Given the description of an element on the screen output the (x, y) to click on. 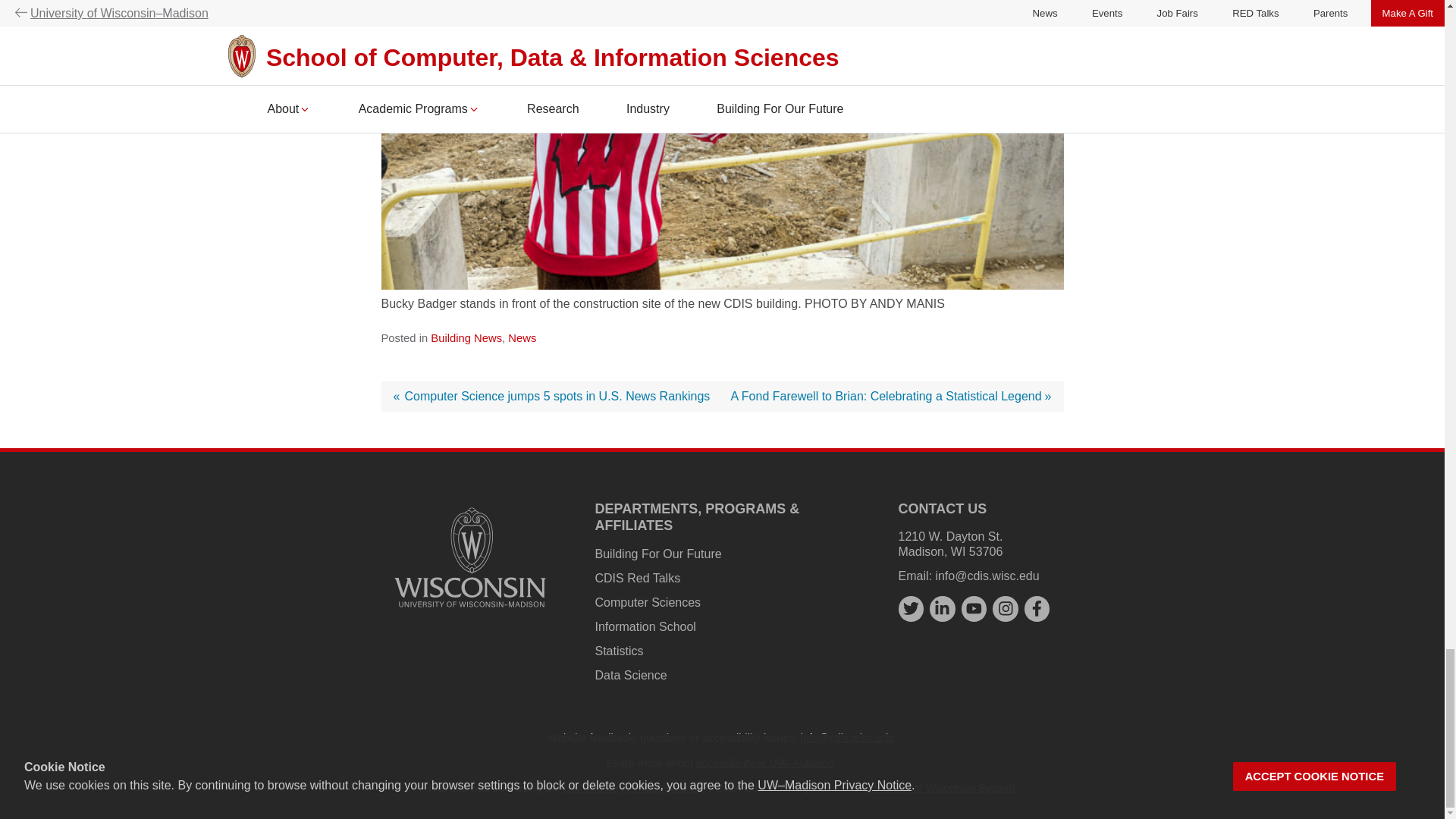
twitter (910, 608)
instagram (1005, 608)
Building For Our Future (657, 553)
University logo that links to main university website (470, 609)
youtube (973, 608)
University logo that links to main university website (470, 557)
linkedin (941, 608)
facebook (1037, 608)
News (521, 337)
Building News (466, 337)
